Given the description of an element on the screen output the (x, y) to click on. 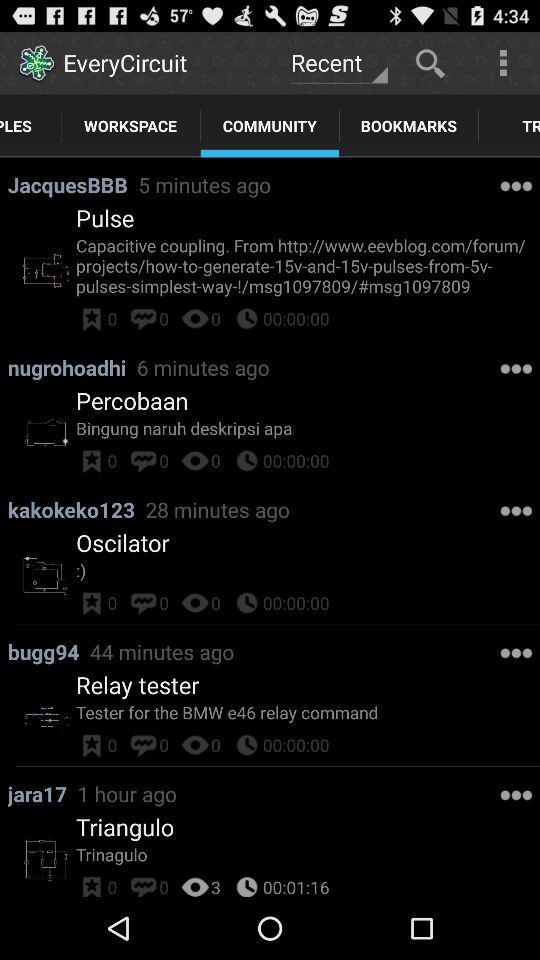
turn off app below the pulse item (308, 265)
